Given the description of an element on the screen output the (x, y) to click on. 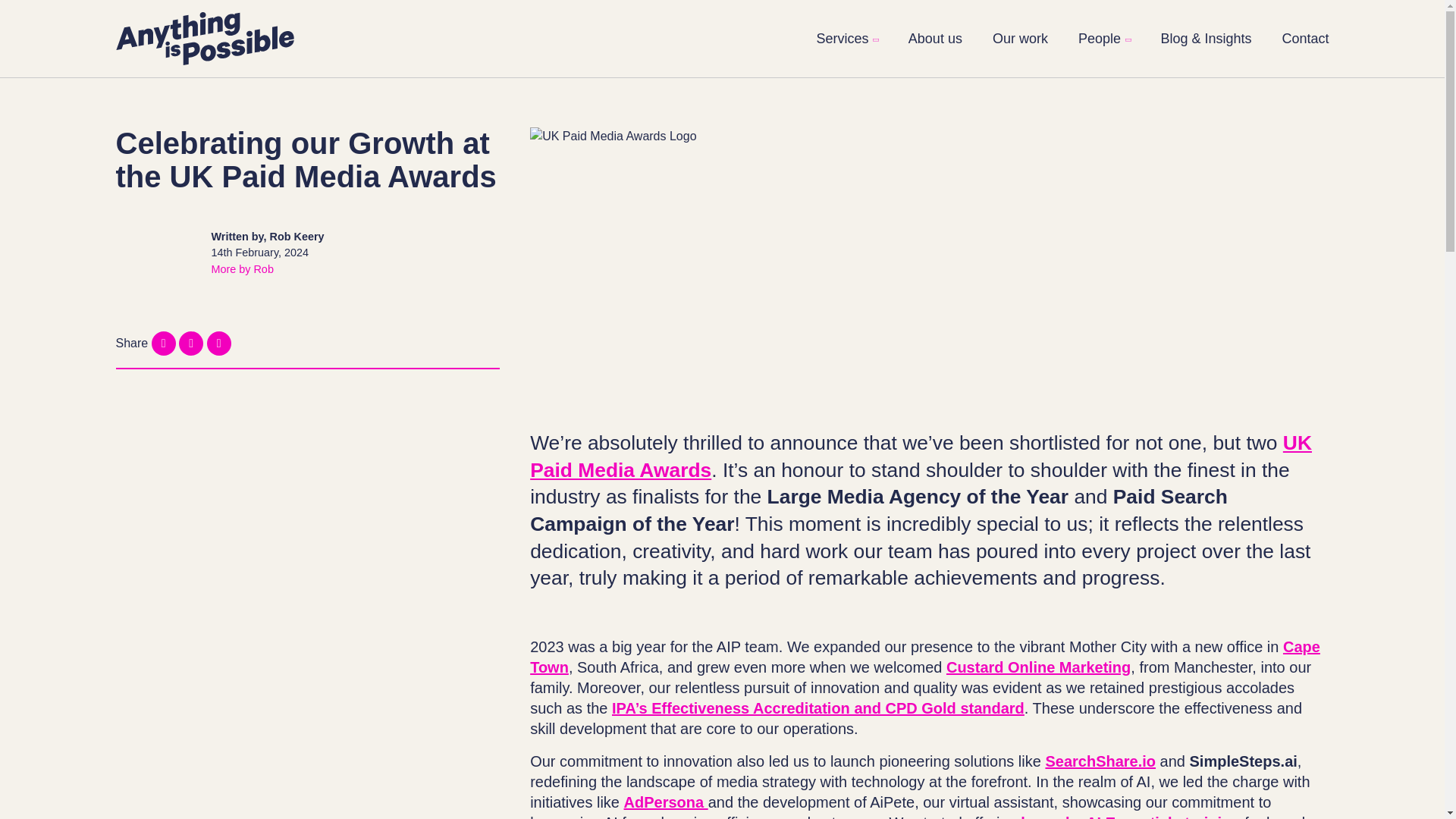
AdPersona (665, 801)
Our work (1020, 38)
Contact (1304, 38)
About us (935, 38)
UK Paid Media Awards (920, 456)
bespoke AI Essentials training (1130, 816)
More by Rob (242, 268)
Cape Town (924, 656)
SearchShare.io (1100, 760)
Services (846, 38)
